Given the description of an element on the screen output the (x, y) to click on. 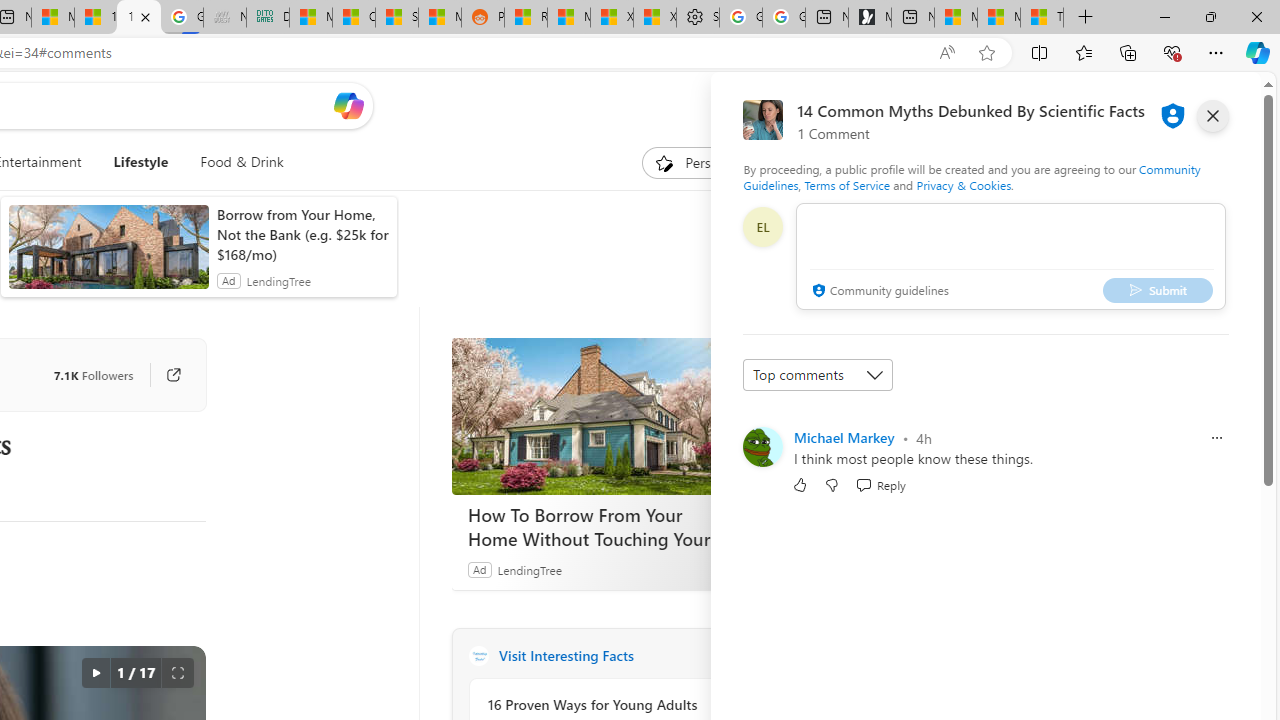
Submit (1158, 290)
Food & Drink (234, 162)
Sort comments by (817, 374)
R******* | Trusted Community Engagement and Contributions (525, 17)
Reply Reply Comment (880, 484)
Borrow from Your Home, Not the Bank (e.g. $25k for $168/mo) (302, 234)
